Given the description of an element on the screen output the (x, y) to click on. 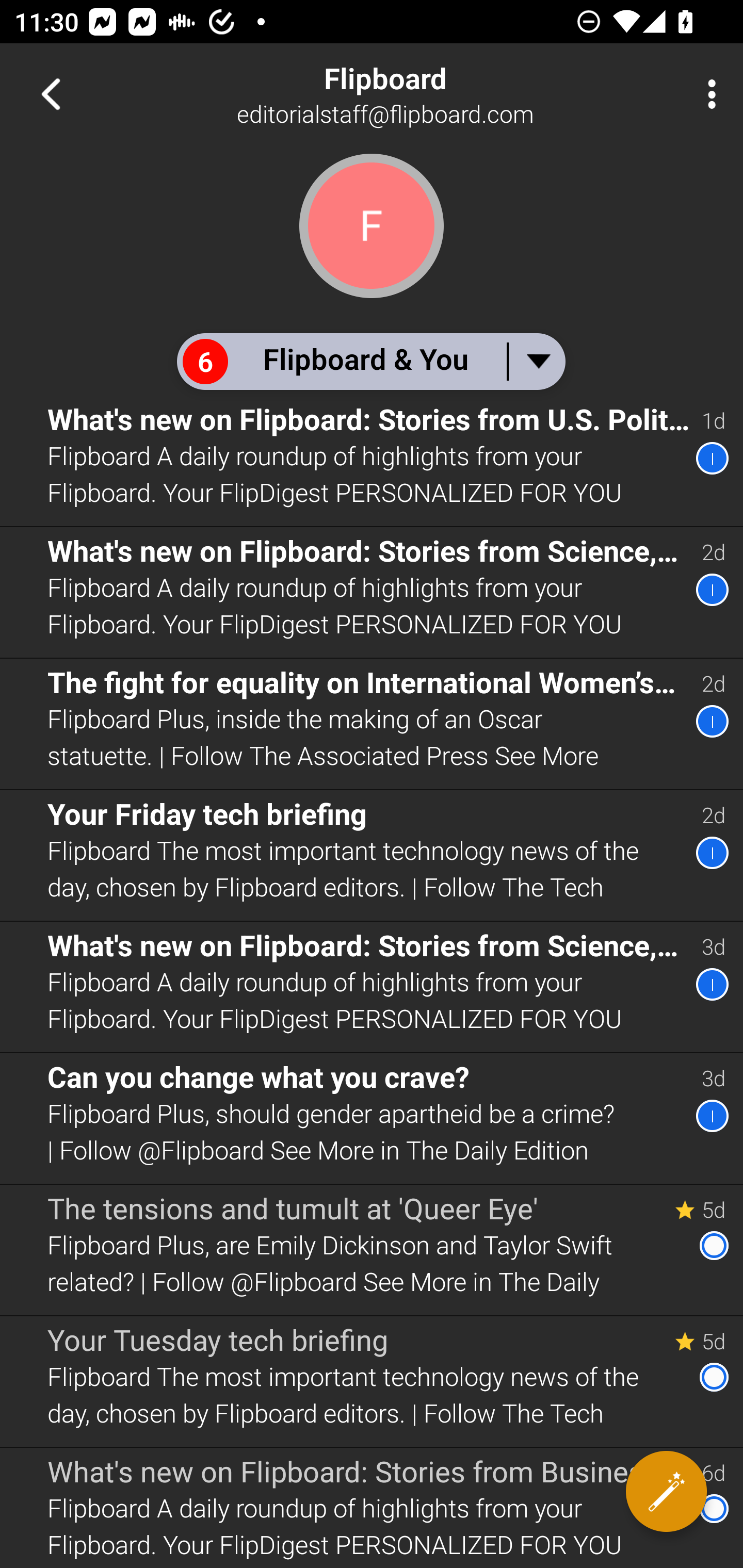
Navigate up (50, 93)
Flipboard editorialstaff@flipboard.com (436, 93)
More Options (706, 93)
6 Flipboard & You (370, 361)
